Given the description of an element on the screen output the (x, y) to click on. 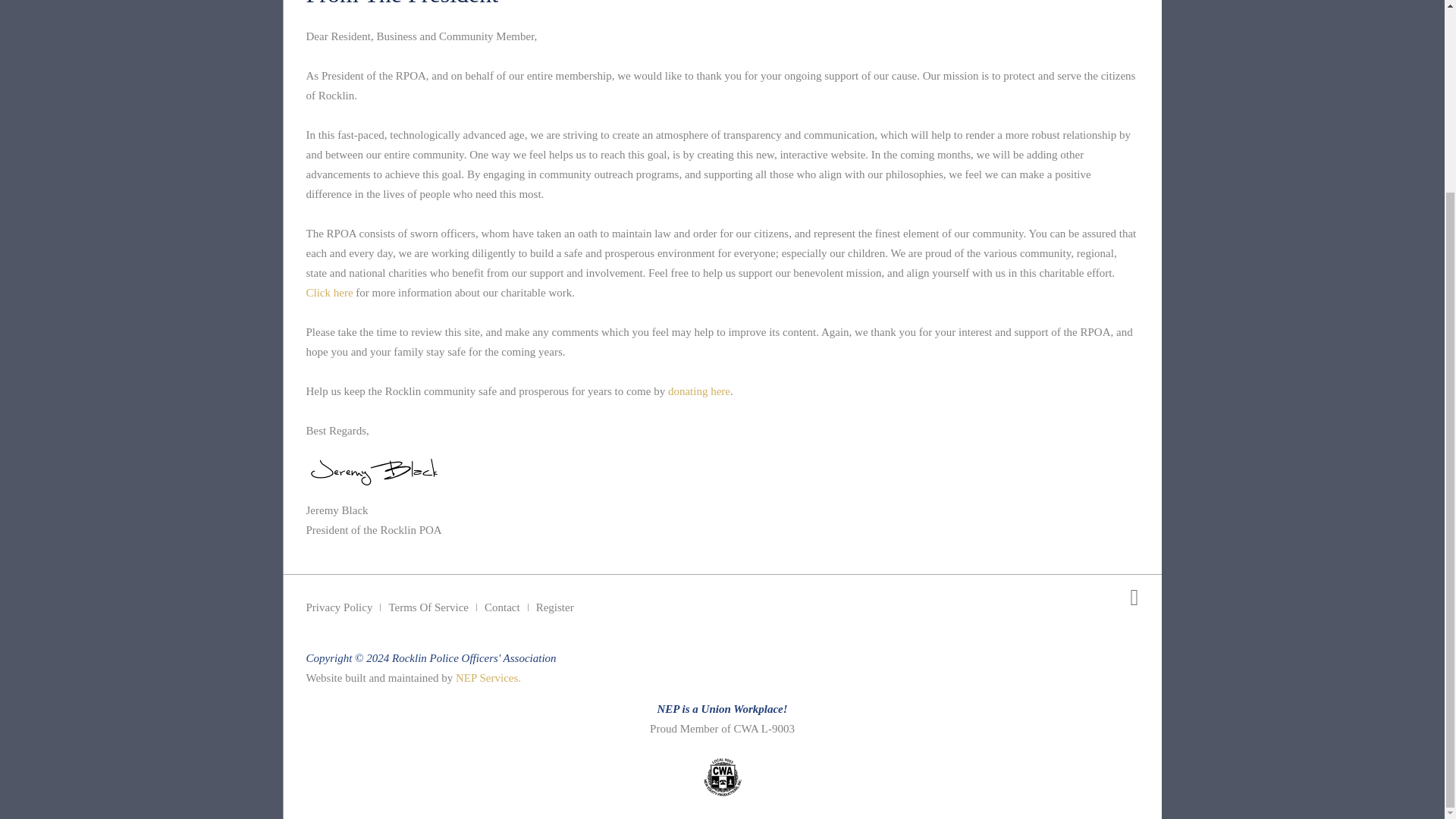
Privacy Policy (338, 607)
Click here (329, 292)
Terms Of Service (428, 607)
Contact (501, 607)
NEP Services. (488, 677)
Register (554, 607)
donating here (699, 390)
